Given the description of an element on the screen output the (x, y) to click on. 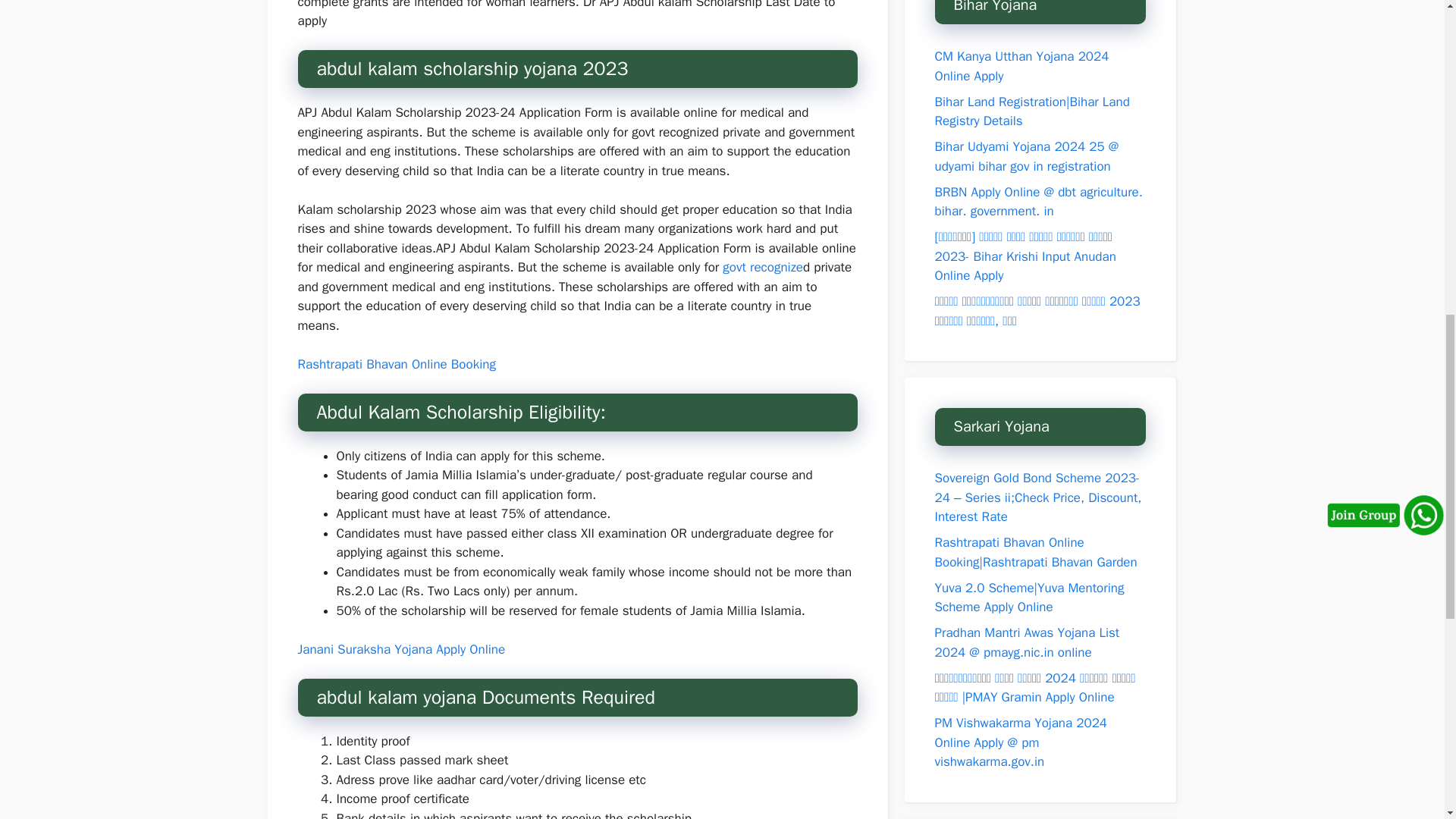
Rashtrapati Bhavan Online Booking (396, 364)
CM Kanya Utthan Yojana 2024 Online Apply (1021, 66)
Janani Suraksha Yojana Apply Online (401, 649)
govt recognize (762, 267)
